Given the description of an element on the screen output the (x, y) to click on. 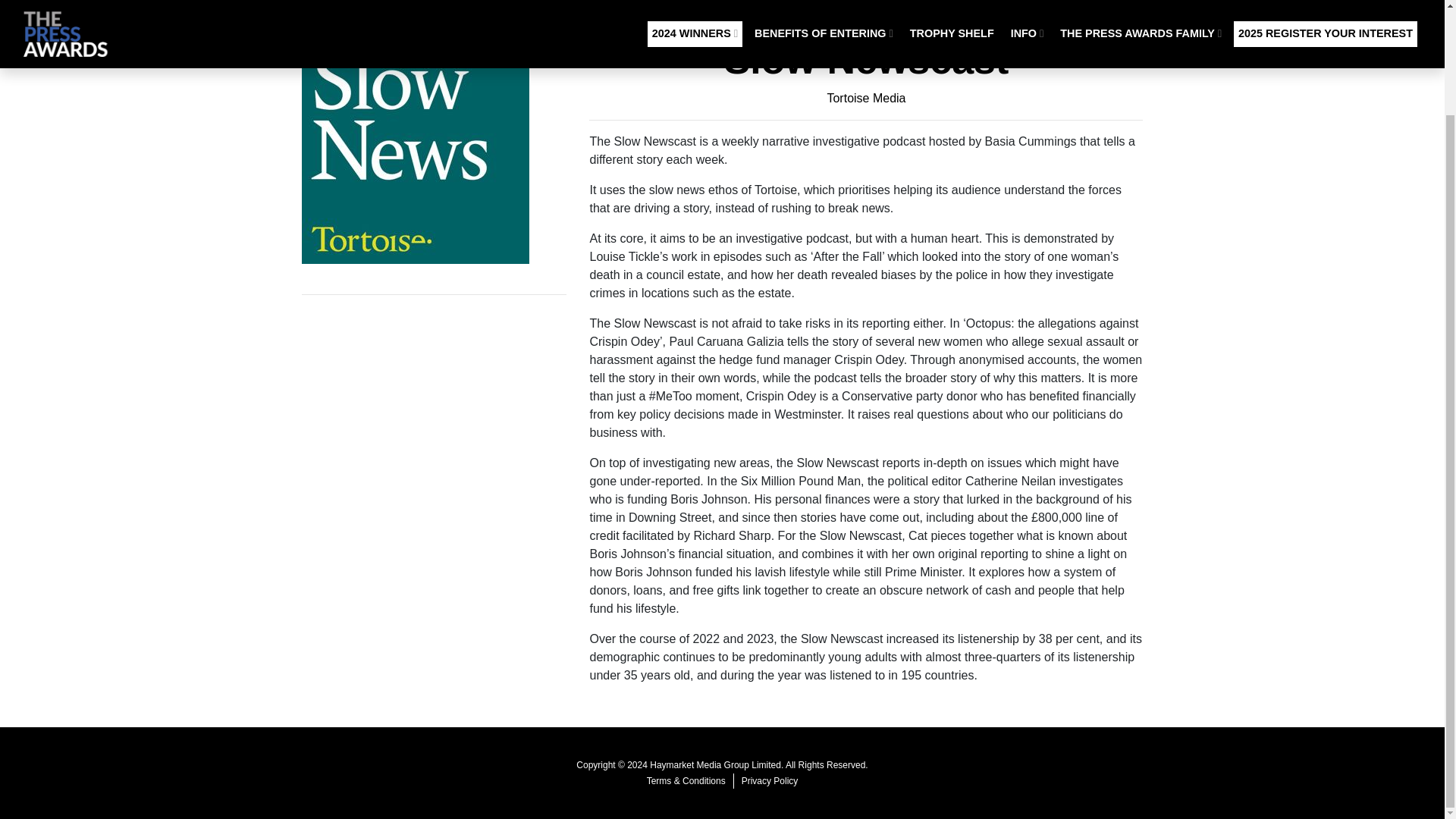
Privacy Policy (769, 780)
